Given the description of an element on the screen output the (x, y) to click on. 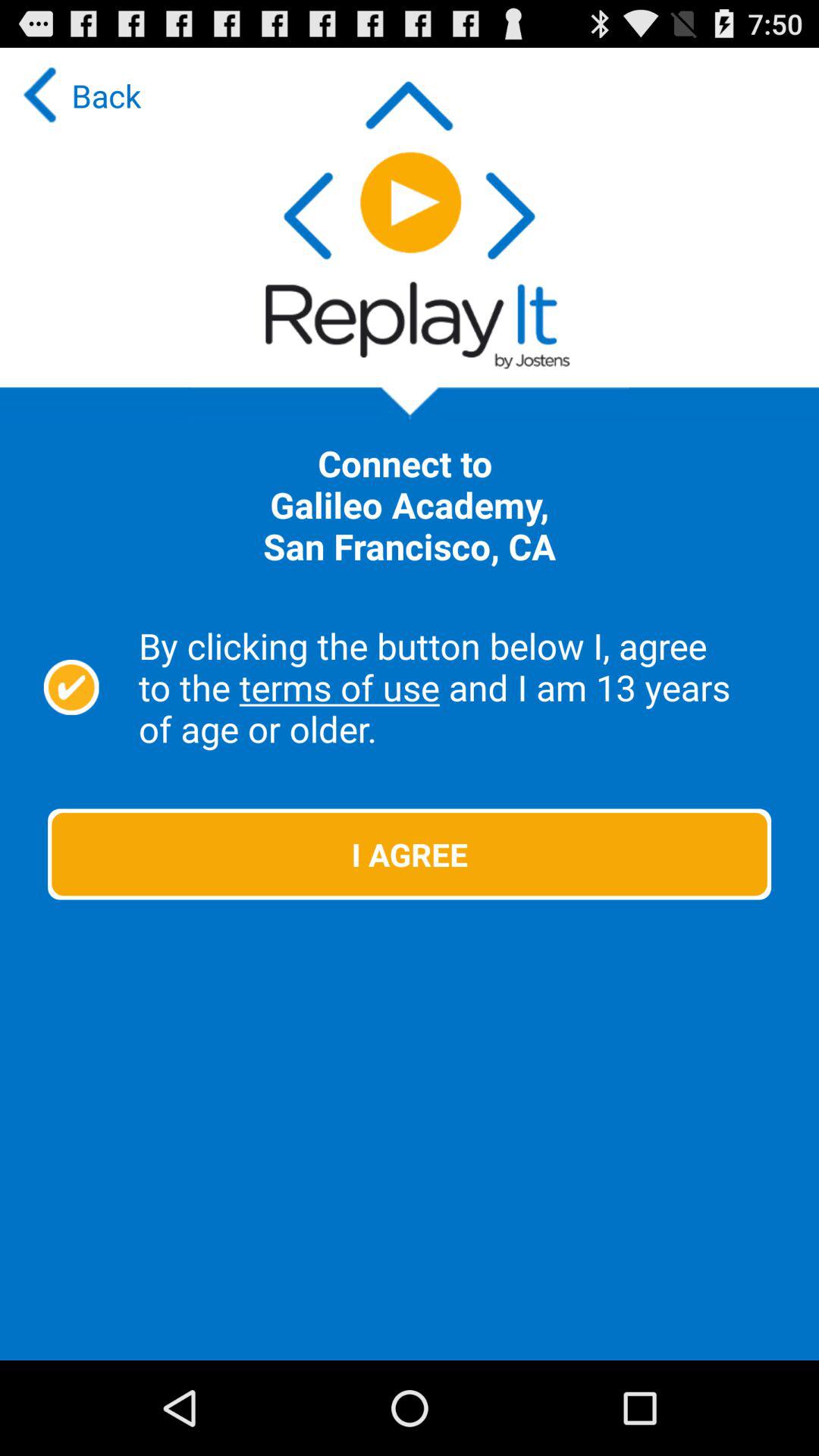
click icon to agree on terms of use (70, 686)
